Given the description of an element on the screen output the (x, y) to click on. 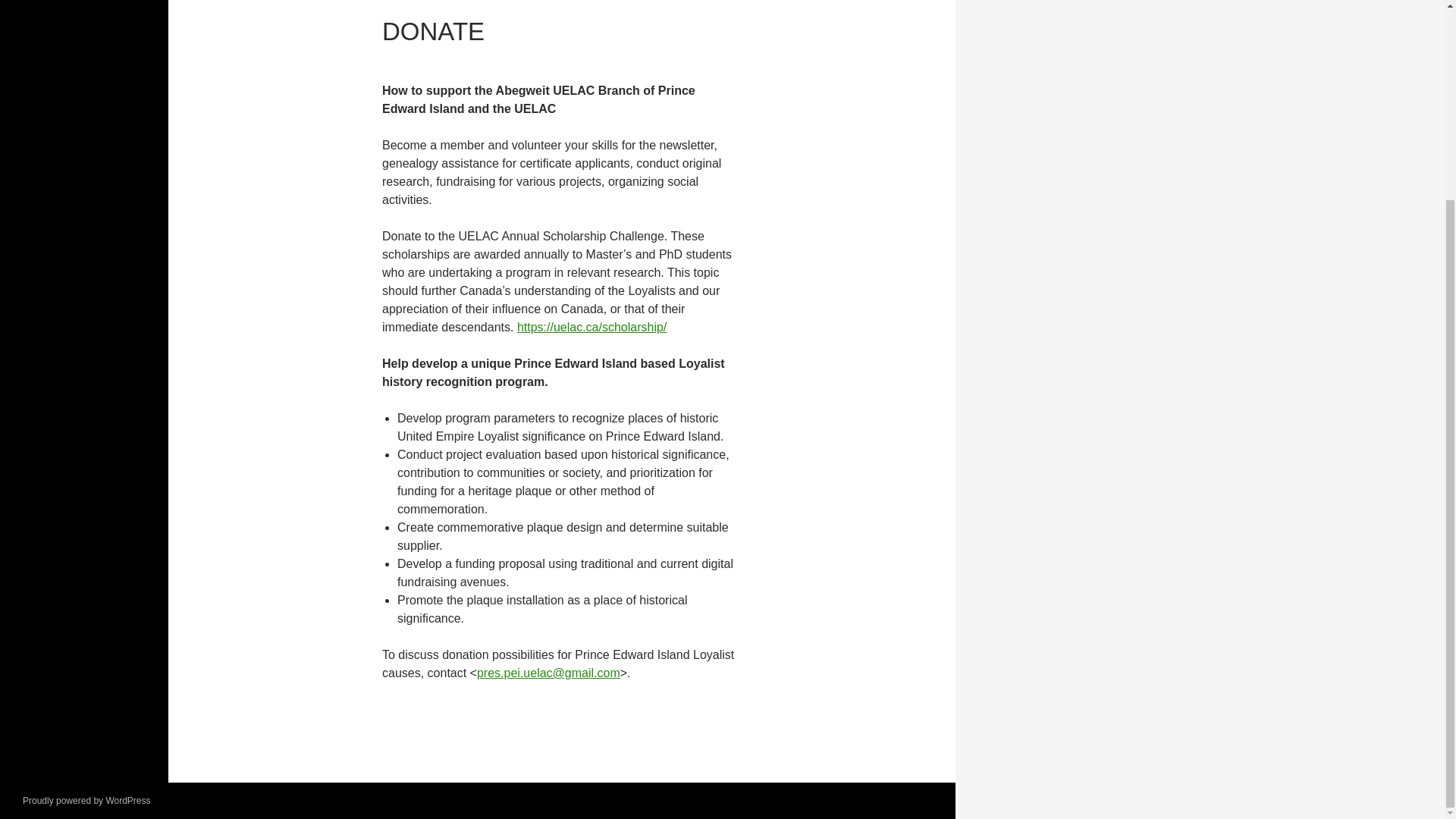
Proudly powered by WordPress (87, 800)
